Given the description of an element on the screen output the (x, y) to click on. 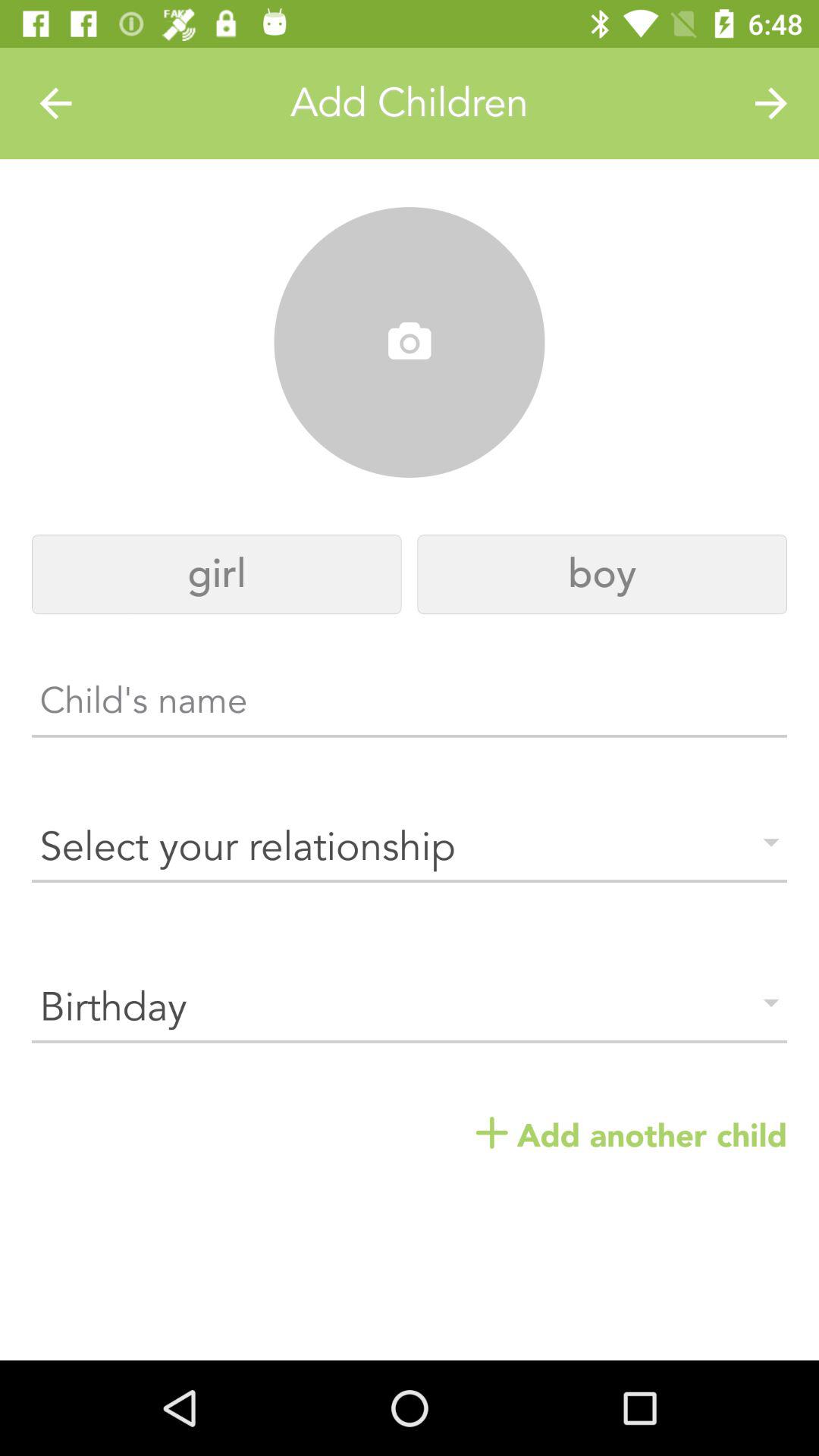
turn on the item above girl item (55, 103)
